Given the description of an element on the screen output the (x, y) to click on. 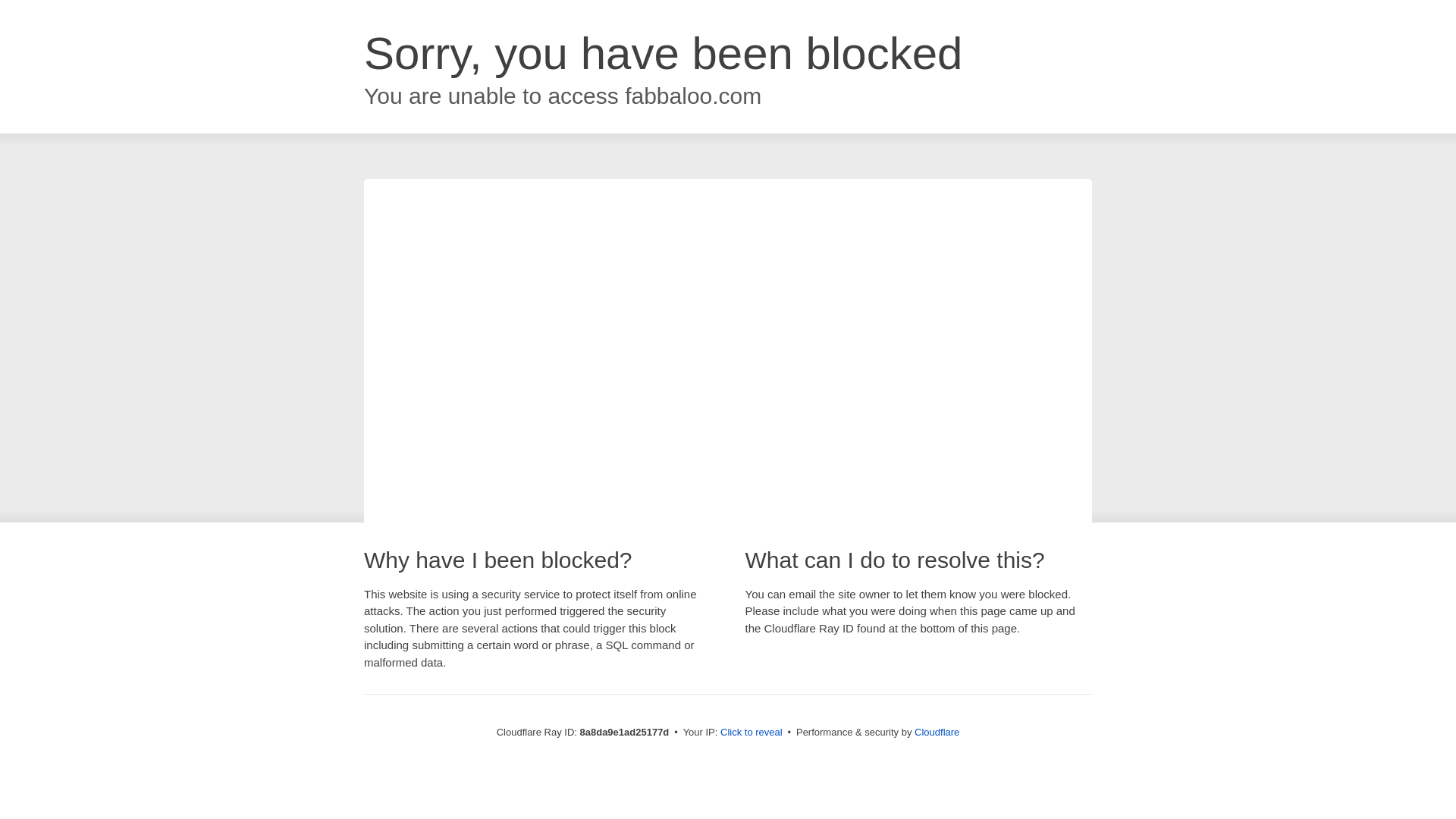
Click to reveal (751, 732)
Cloudflare (936, 731)
